Given the description of an element on the screen output the (x, y) to click on. 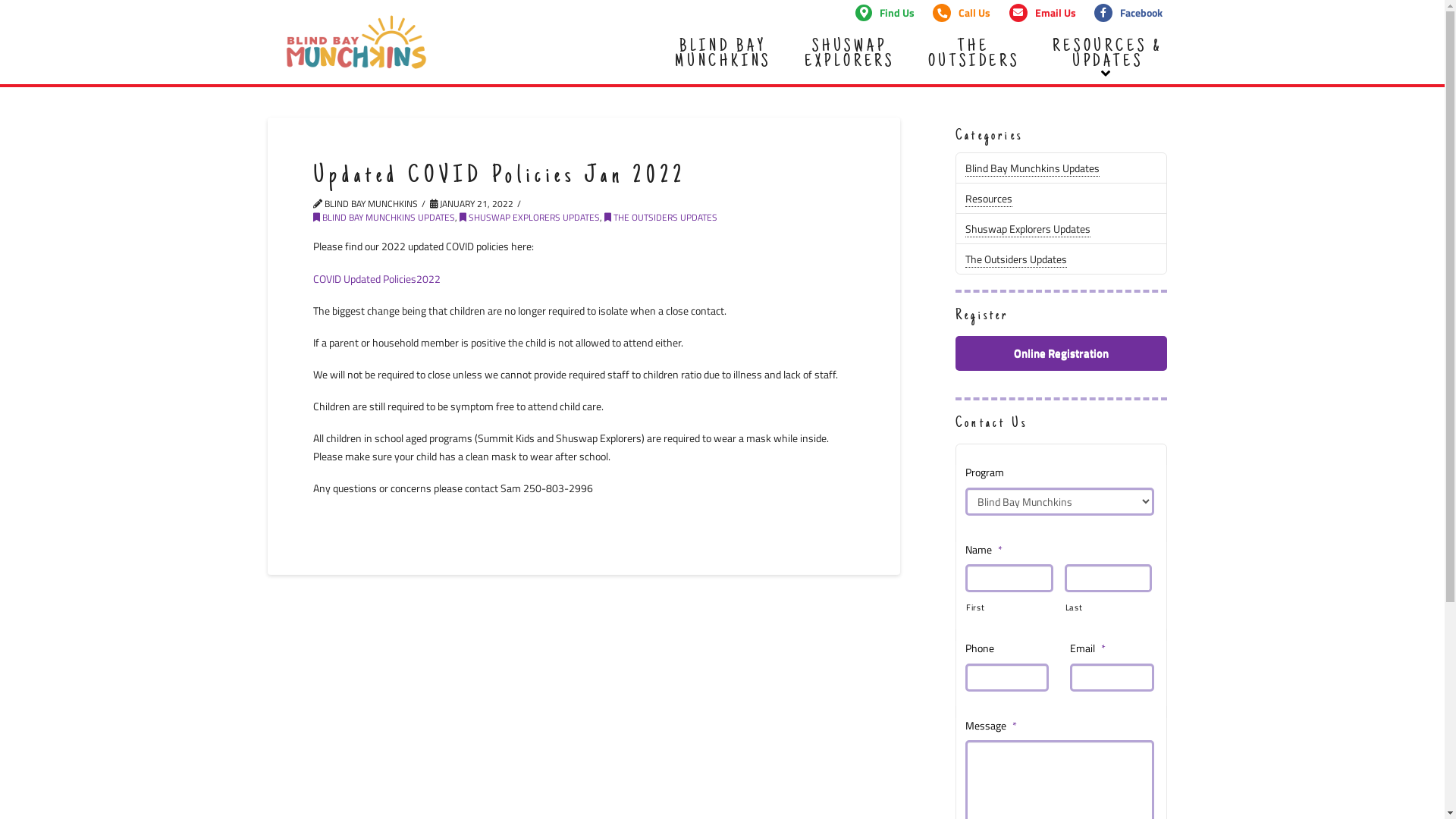
RESOURCES &
UPDATES Element type: text (1105, 54)
THE
OUTSIDERS Element type: text (971, 54)
Find Us Element type: text (884, 12)
COVID Updated Policies2022  Element type: text (377, 278)
Call Us Element type: text (961, 12)
THE OUTSIDERS UPDATES Element type: text (659, 217)
The Outsiders Updates Element type: text (1015, 259)
BLIND BAY MUNCHKINS UPDATES Element type: text (383, 217)
Shuswap Explorers Updates Element type: text (1027, 228)
Online Registration Element type: text (1060, 352)
Blind Bay Munchkins Updates Element type: text (1032, 168)
SHUSWAP EXPLORERS UPDATES Element type: text (529, 217)
Facebook Element type: text (1128, 12)
BLIND BAY
MUNCHKINS Element type: text (721, 54)
SHUSWAP
EXPLORERS Element type: text (848, 54)
Resources Element type: text (988, 198)
Email Us Element type: text (1042, 12)
